Given the description of an element on the screen output the (x, y) to click on. 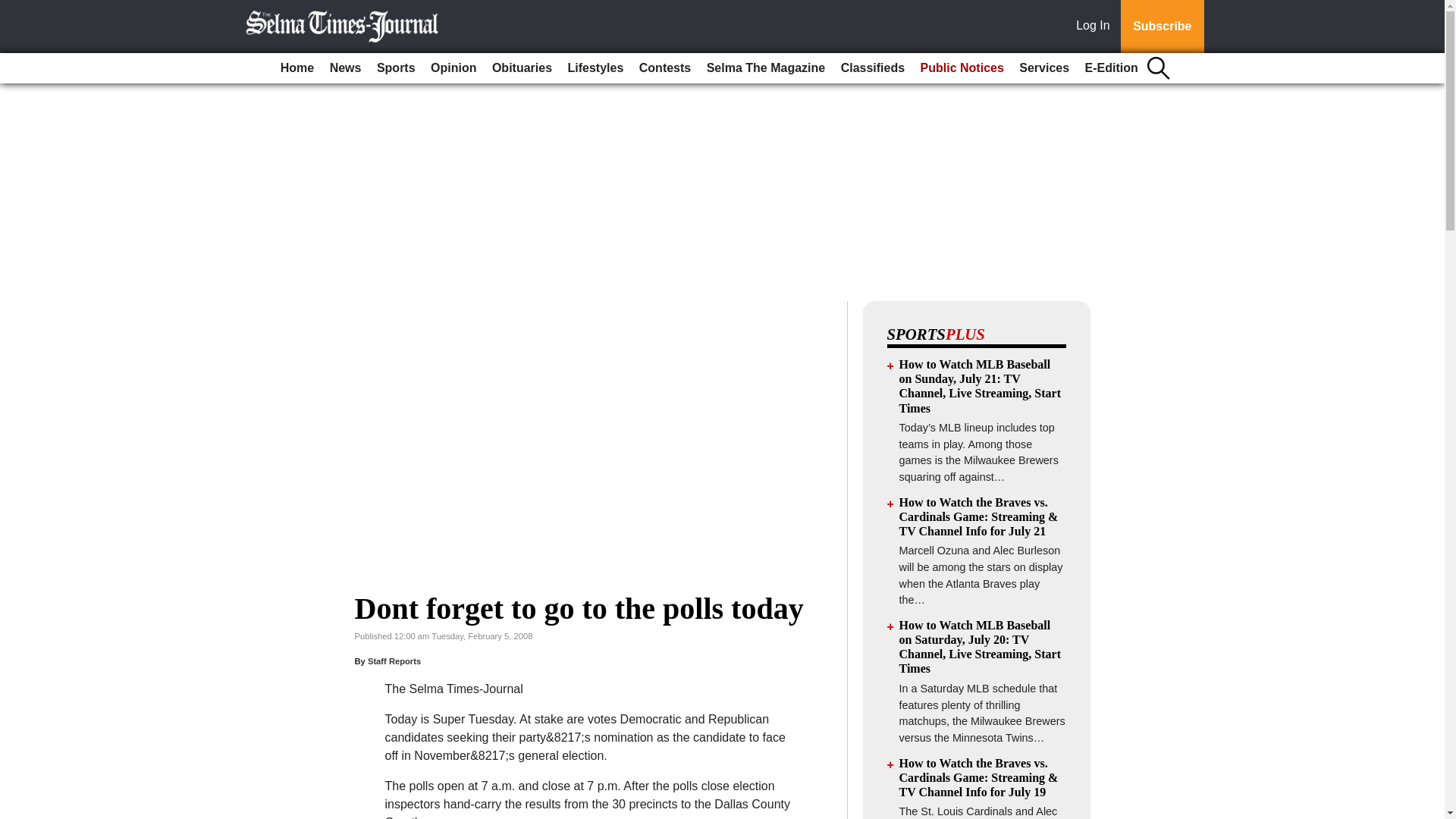
Lifestyles (596, 68)
Contests (665, 68)
Selma The Magazine (765, 68)
Opinion (453, 68)
Obituaries (521, 68)
Staff Reports (394, 660)
Subscribe (1162, 26)
Services (1044, 68)
Home (297, 68)
Log In (1095, 26)
Public Notices (962, 68)
Sports (396, 68)
News (345, 68)
E-Edition (1111, 68)
